Given the description of an element on the screen output the (x, y) to click on. 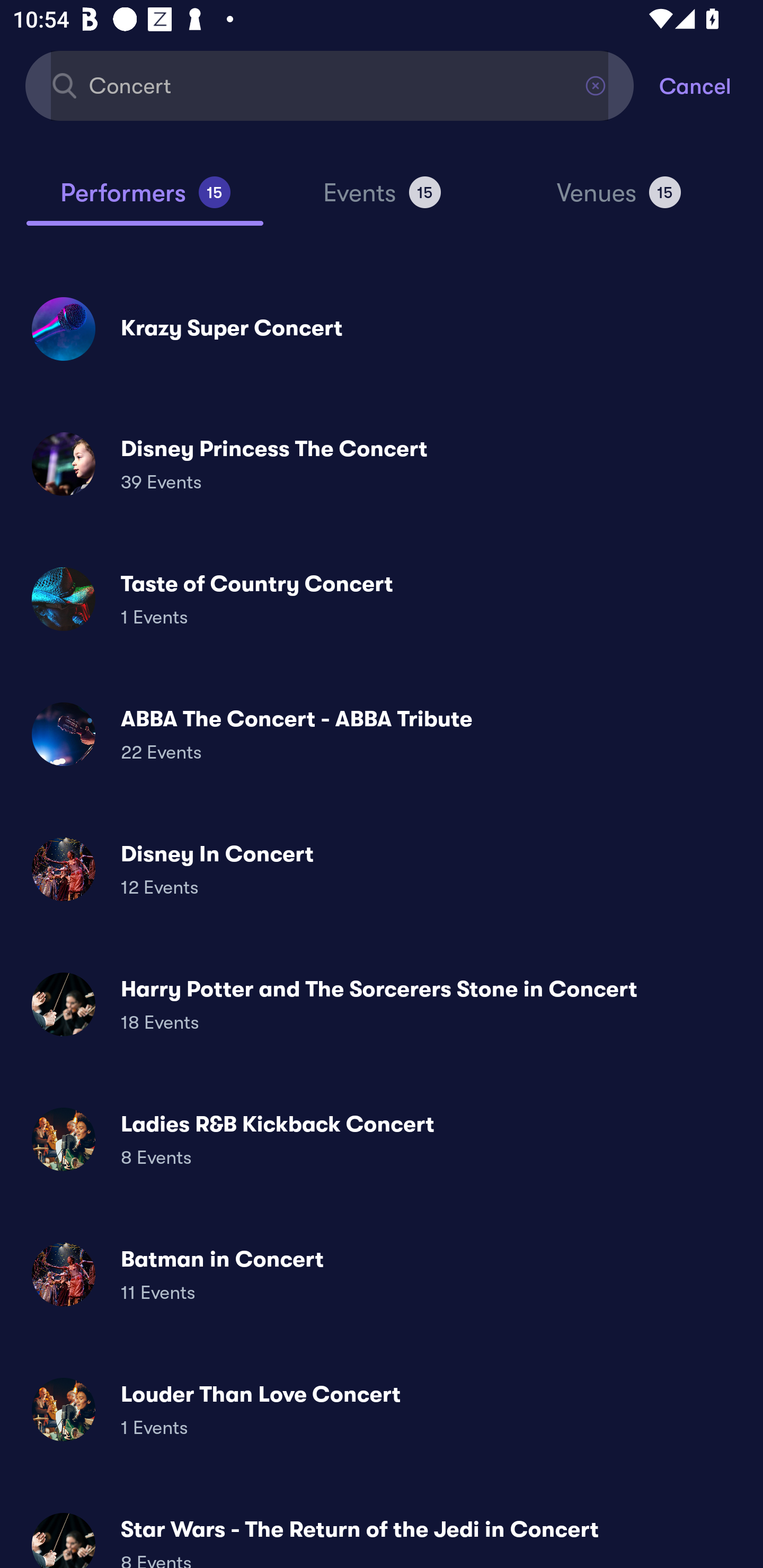
Concert Find (329, 85)
Concert Find (329, 85)
Cancel (711, 85)
Performers 15 (144, 200)
Events 15 (381, 200)
Venues 15 (618, 200)
Krazy Super Concert (381, 328)
Disney Princess The Concert 39 Events (381, 464)
Taste of Country Concert 1 Events (381, 598)
ABBA The Concert - ABBA Tribute 22 Events (381, 734)
Disney In Concert 12 Events (381, 869)
Ladies R&B Kickback Concert 8 Events (381, 1138)
Batman in Concert 11 Events (381, 1273)
Louder Than Love Concert 1 Events (381, 1409)
